Given the description of an element on the screen output the (x, y) to click on. 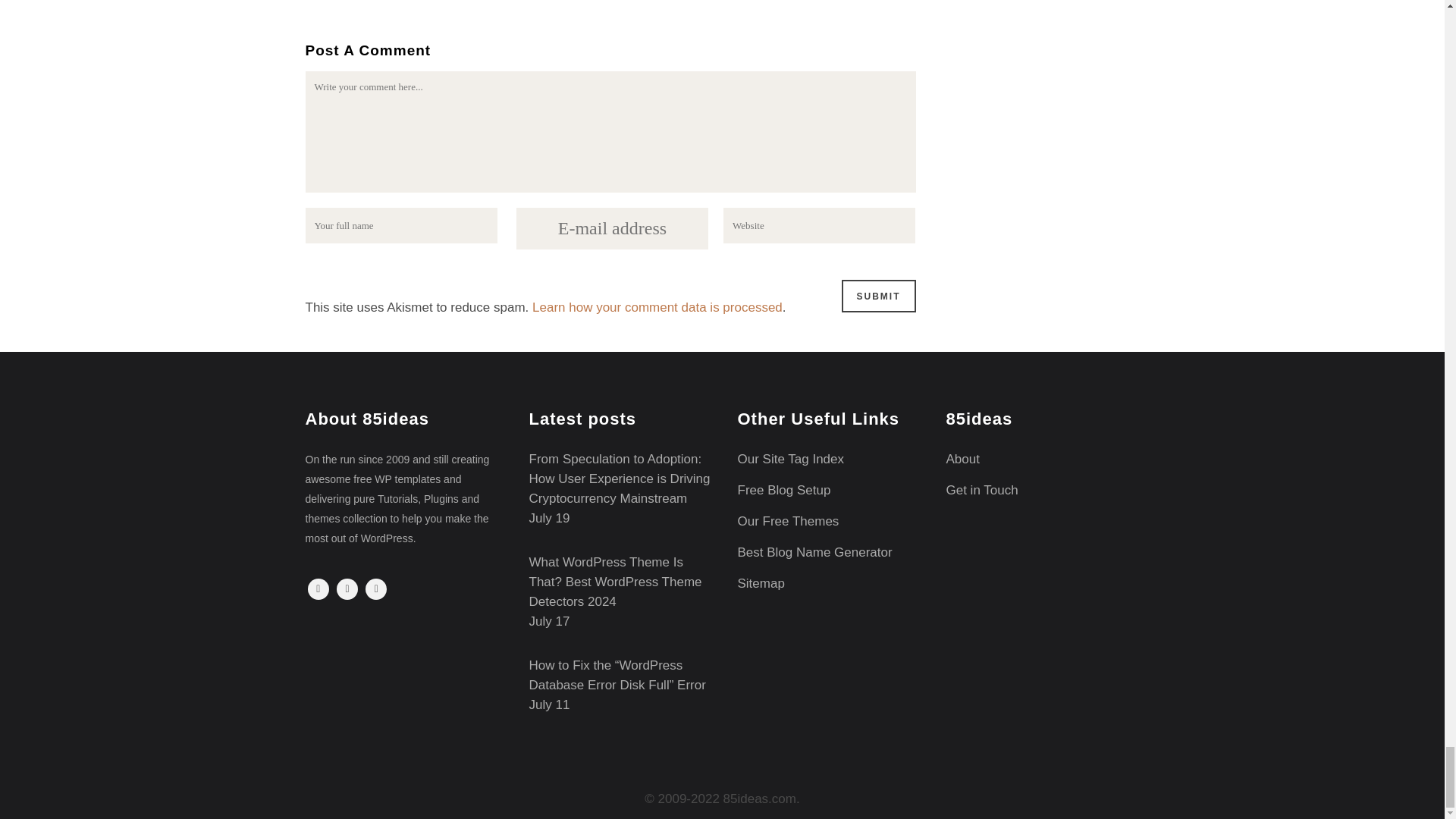
Submit (878, 296)
